Given the description of an element on the screen output the (x, y) to click on. 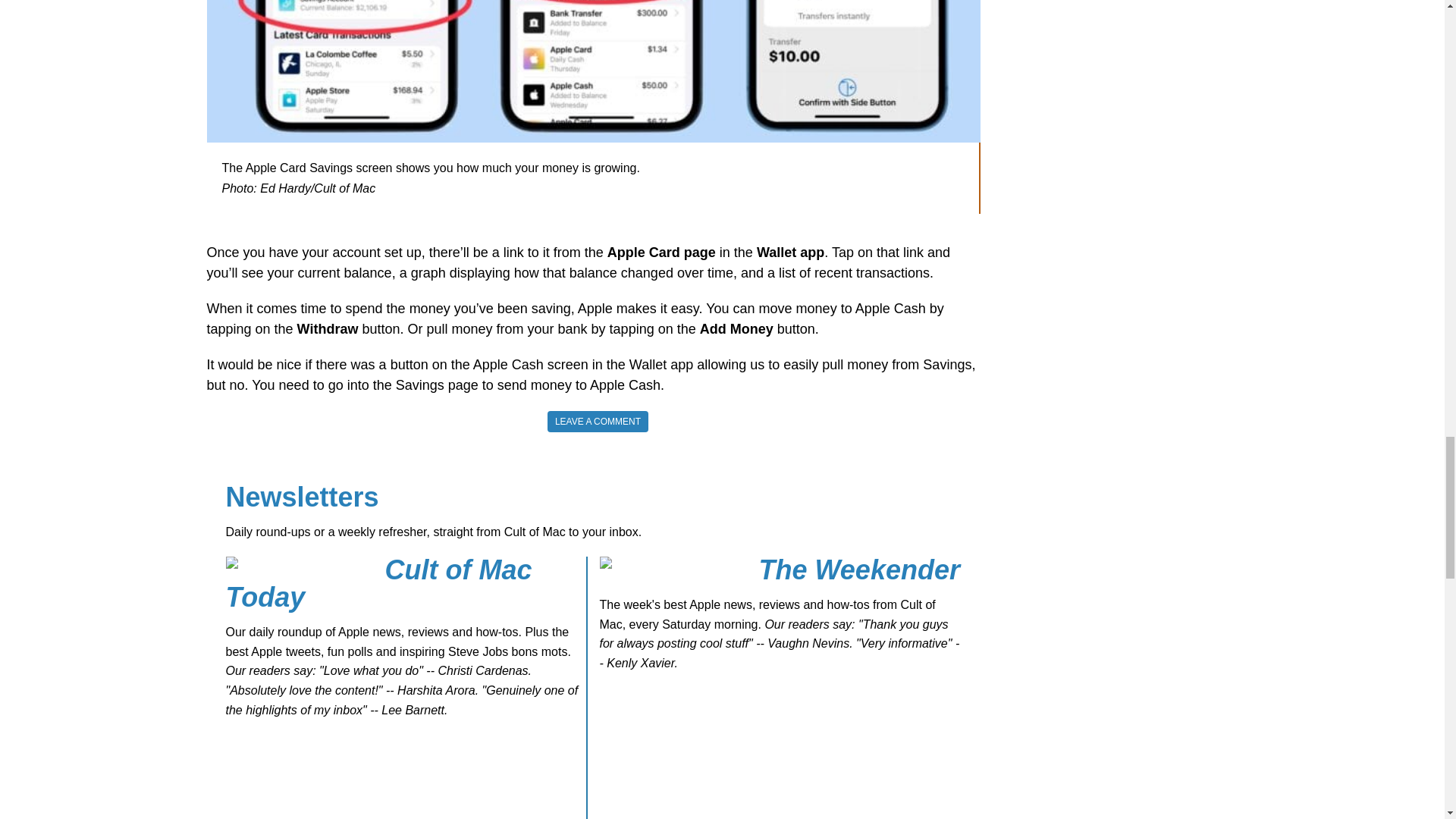
How to move money around with Apple Card Savings (592, 71)
